Given the description of an element on the screen output the (x, y) to click on. 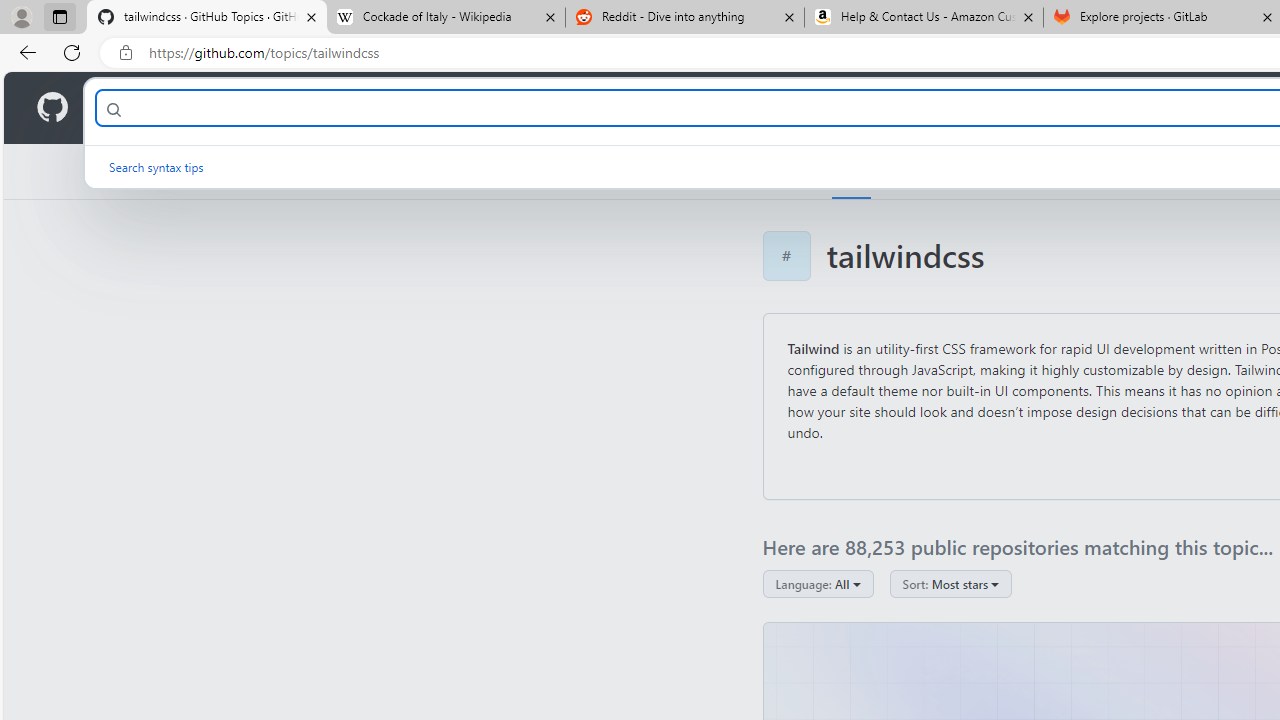
Product (130, 107)
